Given the description of an element on the screen output the (x, y) to click on. 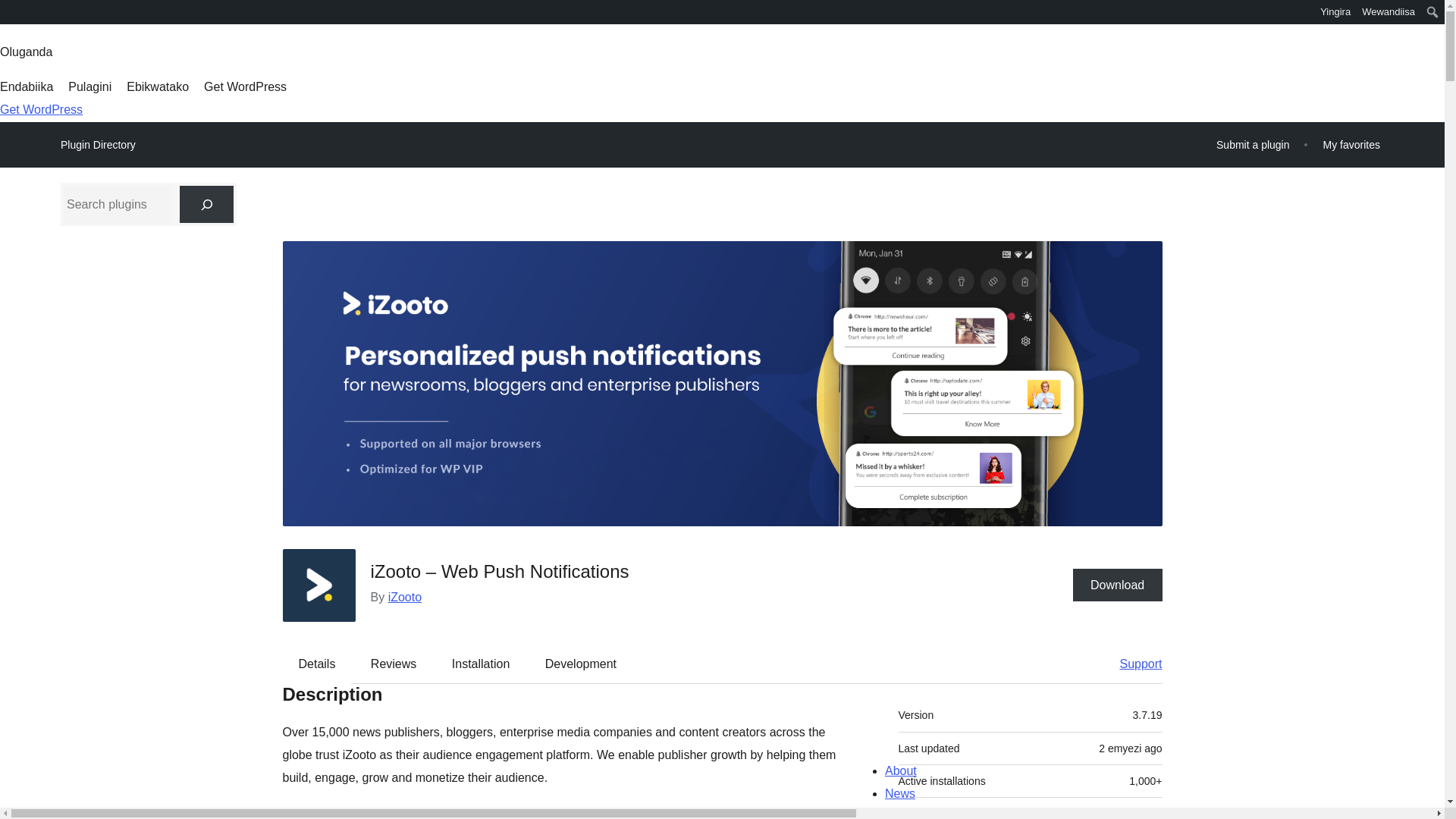
Reviews (392, 664)
Get WordPress (244, 87)
Download (1117, 584)
Plugin Directory (97, 144)
Wewandiisa (1388, 12)
Noonya (18, 13)
Yingira (1335, 12)
Submit a plugin (1253, 144)
retain your audience (727, 812)
iZooto (405, 596)
Pulagini (90, 87)
Support (1132, 664)
Installation (480, 664)
Development (580, 664)
Details (316, 664)
